Given the description of an element on the screen output the (x, y) to click on. 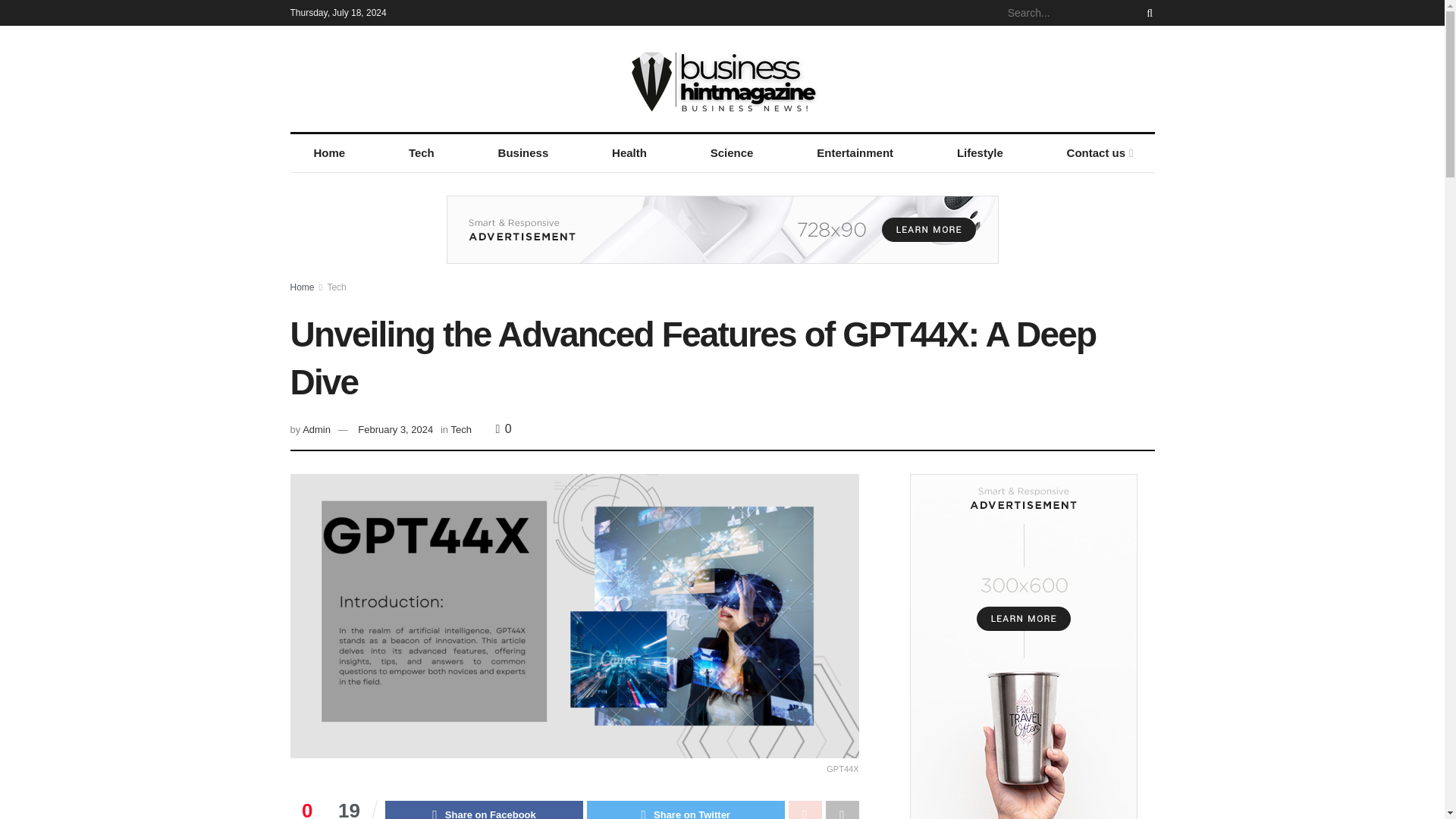
Share on Twitter (685, 809)
Home (301, 286)
Tech (336, 286)
Share on Facebook (484, 809)
Admin (316, 429)
Tech (421, 152)
Entertainment (855, 152)
Lifestyle (979, 152)
Tech (459, 429)
February 3, 2024 (395, 429)
Science (732, 152)
0 (504, 428)
Health (628, 152)
Home (328, 152)
